Given the description of an element on the screen output the (x, y) to click on. 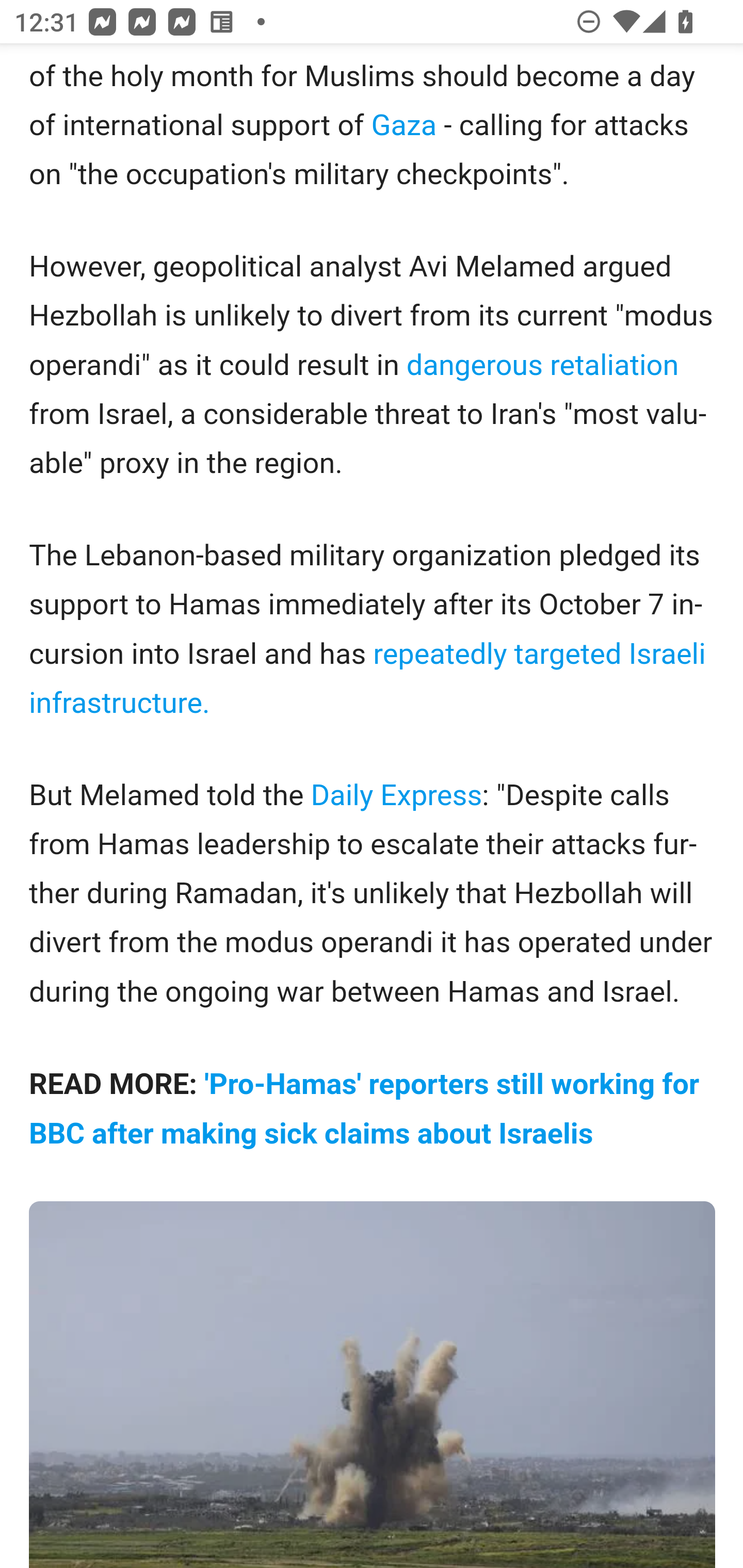
Gaza (404, 124)
dangerous retaliation (542, 366)
repeatedly targeted Israeli infrastructure. (366, 679)
Daily Express (396, 796)
